Given the description of an element on the screen output the (x, y) to click on. 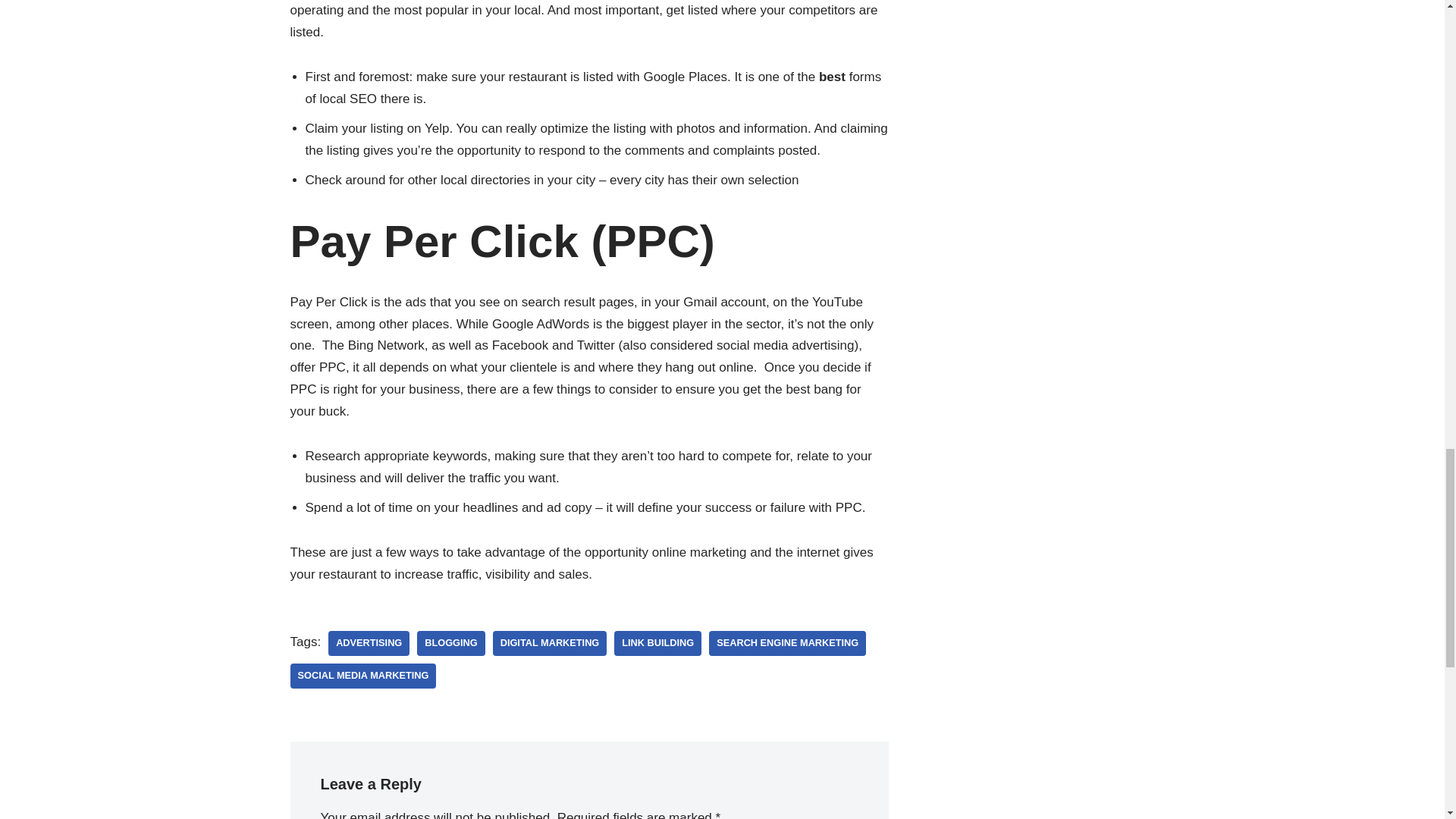
ADVERTISING (369, 643)
BLOGGING (450, 643)
Link Building (657, 643)
DIGITAL MARKETING (550, 643)
SOCIAL MEDIA MARKETING (362, 675)
Digital Marketing (550, 643)
Blogging (450, 643)
Advertising (369, 643)
LINK BUILDING (657, 643)
SEARCH ENGINE MARKETING (787, 643)
Social Media Marketing (362, 675)
Search Engine Marketing (787, 643)
